Given the description of an element on the screen output the (x, y) to click on. 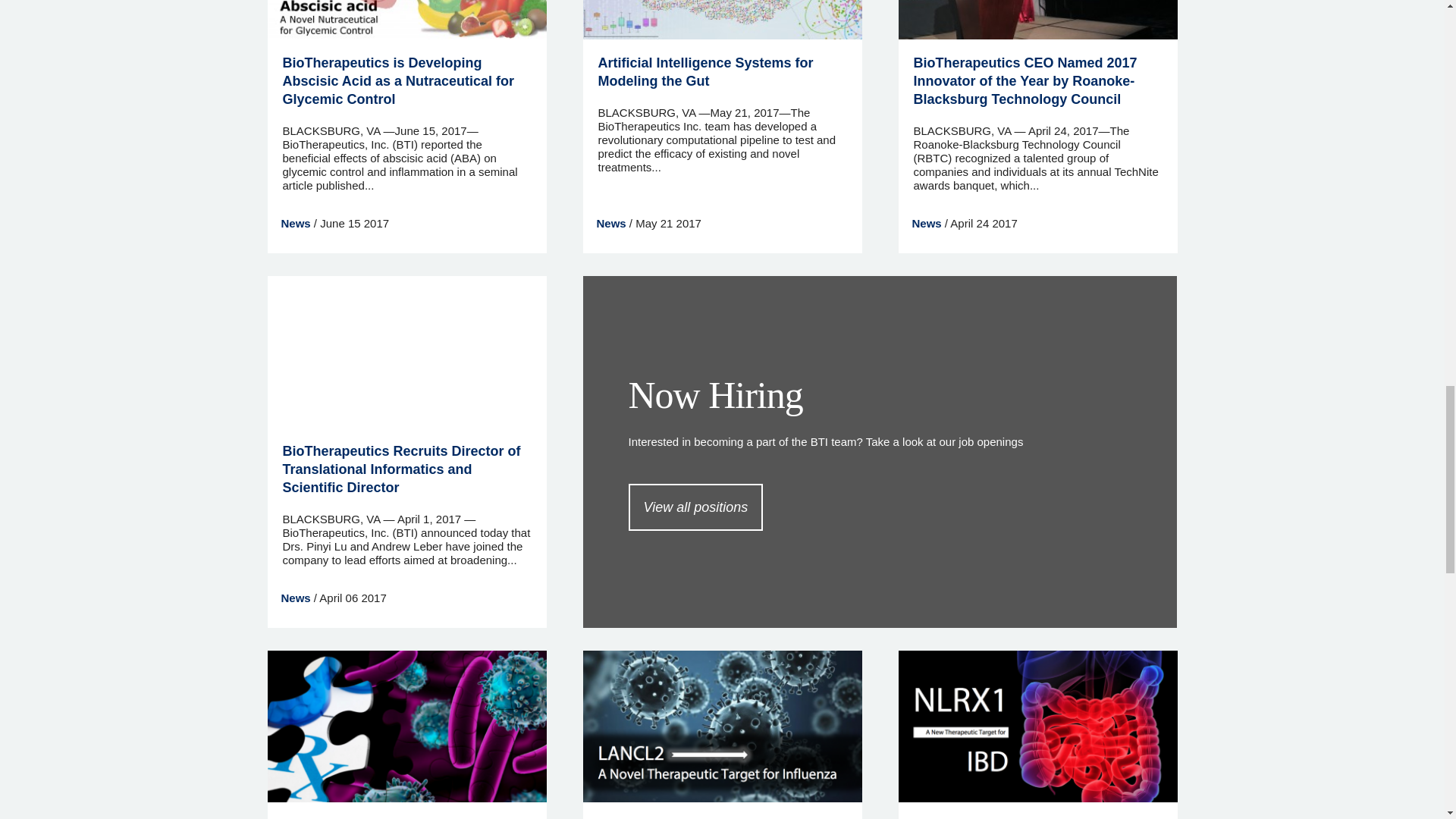
View all positions (694, 507)
Artificial Intelligence Systems for Modeling the Gut (704, 70)
